Given the description of an element on the screen output the (x, y) to click on. 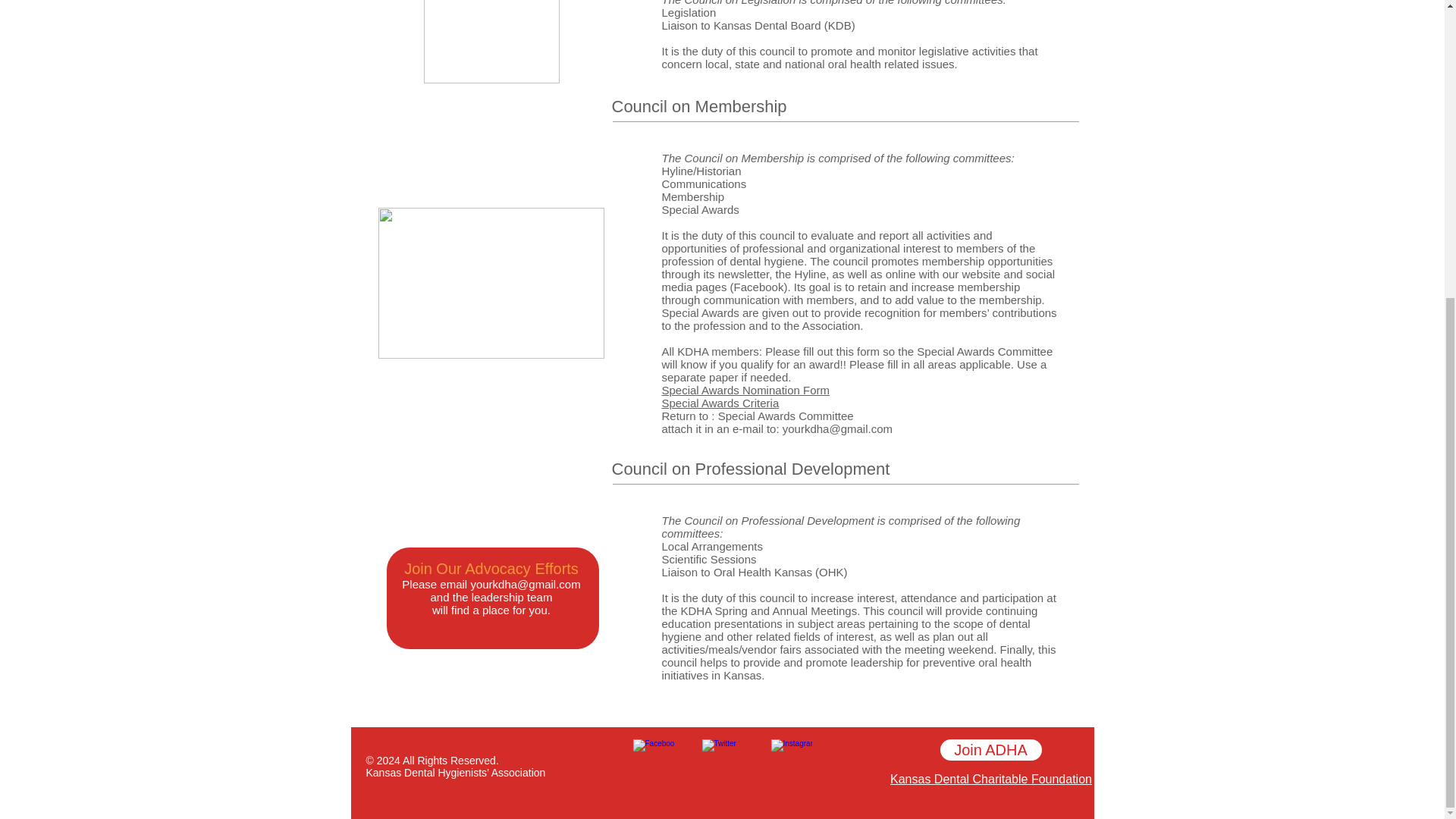
Special Awards Nomination Form (744, 390)
Special Awards Criteria (719, 402)
Kansas Dental Charitable Foundation (990, 779)
Join ADHA (991, 749)
